Given the description of an element on the screen output the (x, y) to click on. 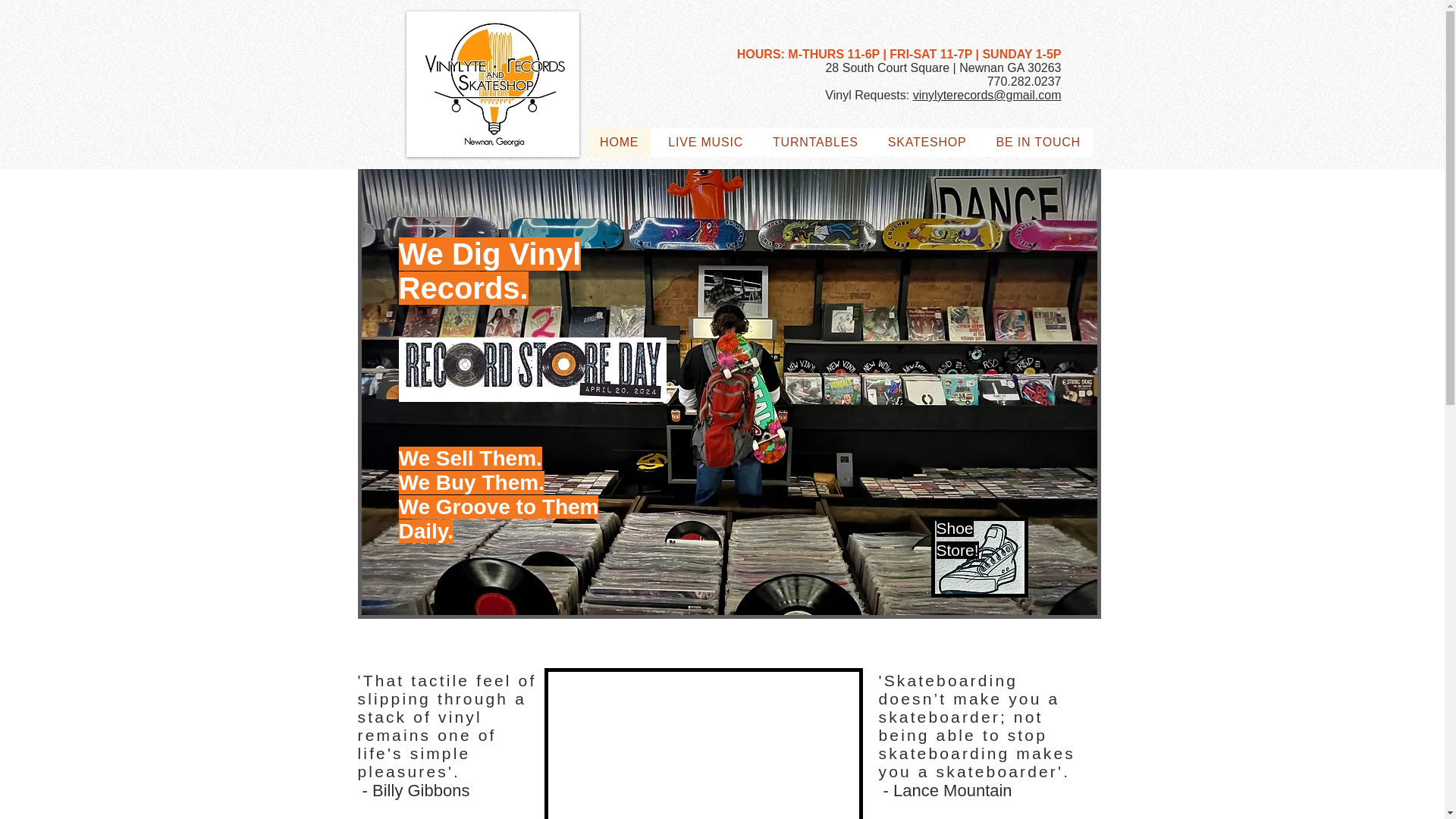
TURNTABLES (815, 142)
BE IN TOUCH (1038, 142)
HOME (619, 142)
LIVE MUSIC (705, 142)
SKATESHOP (927, 142)
